Given the description of an element on the screen output the (x, y) to click on. 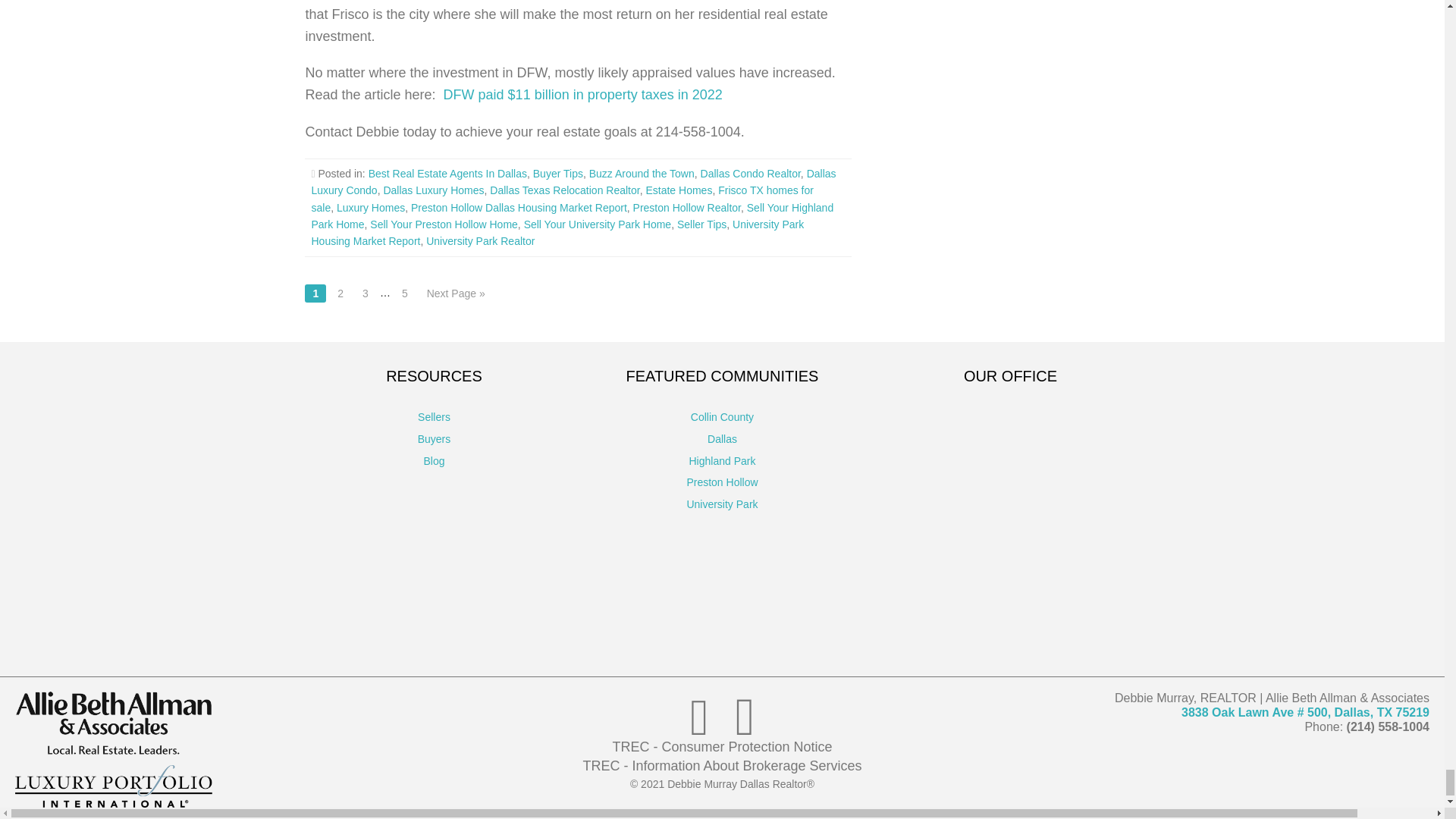
Blog (433, 460)
Dallas (721, 439)
Sellers (433, 417)
Buyers (434, 439)
Collin County (722, 417)
